Given the description of an element on the screen output the (x, y) to click on. 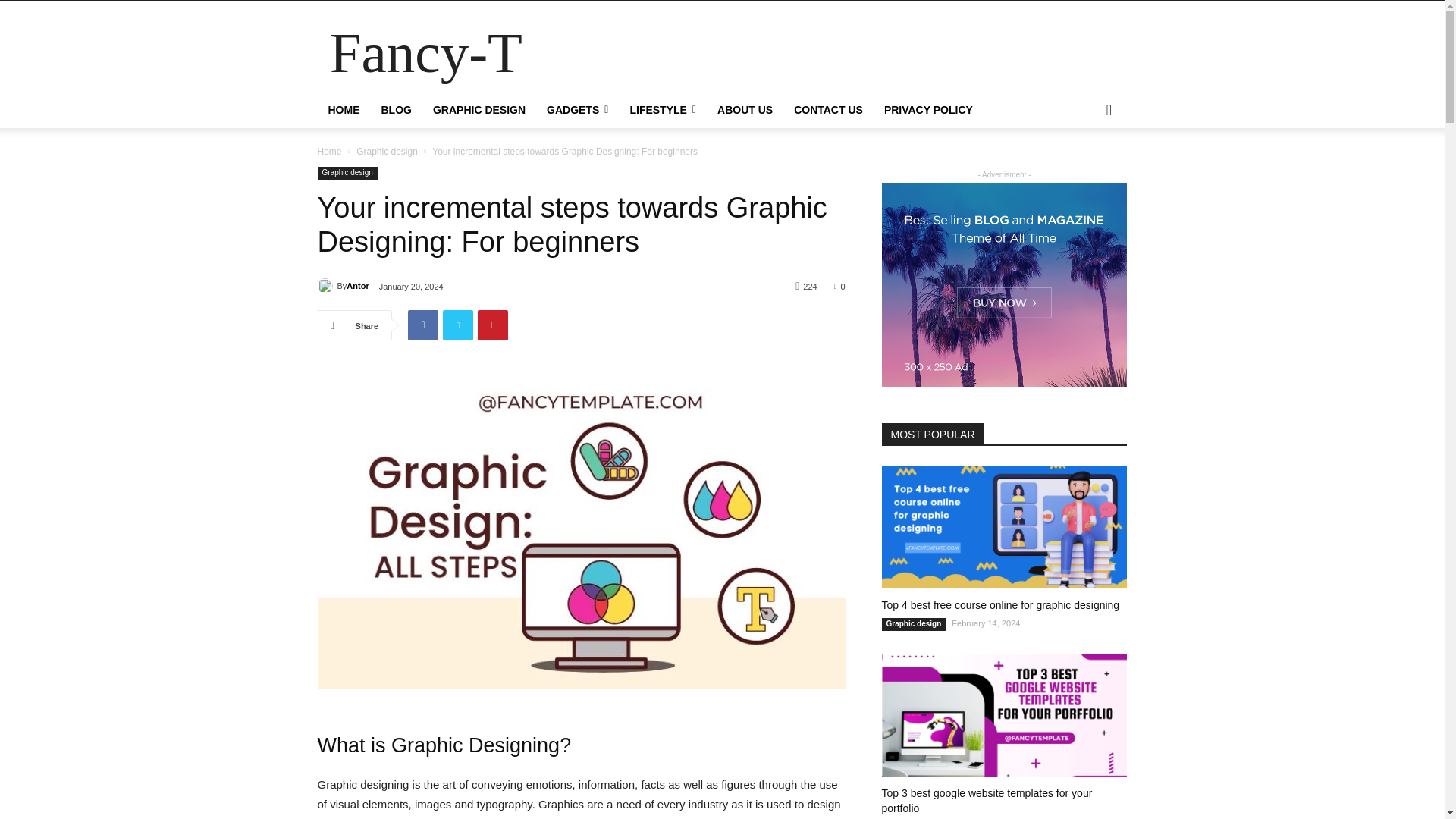
Fancy-T (425, 53)
HOME (343, 108)
View all posts in Graphic design (386, 150)
BLOG (395, 108)
CONTACT US (828, 108)
ABOUT US (744, 108)
GADGETS (576, 108)
LIFESTYLE (662, 108)
GRAPHIC DESIGN (478, 108)
